Given the description of an element on the screen output the (x, y) to click on. 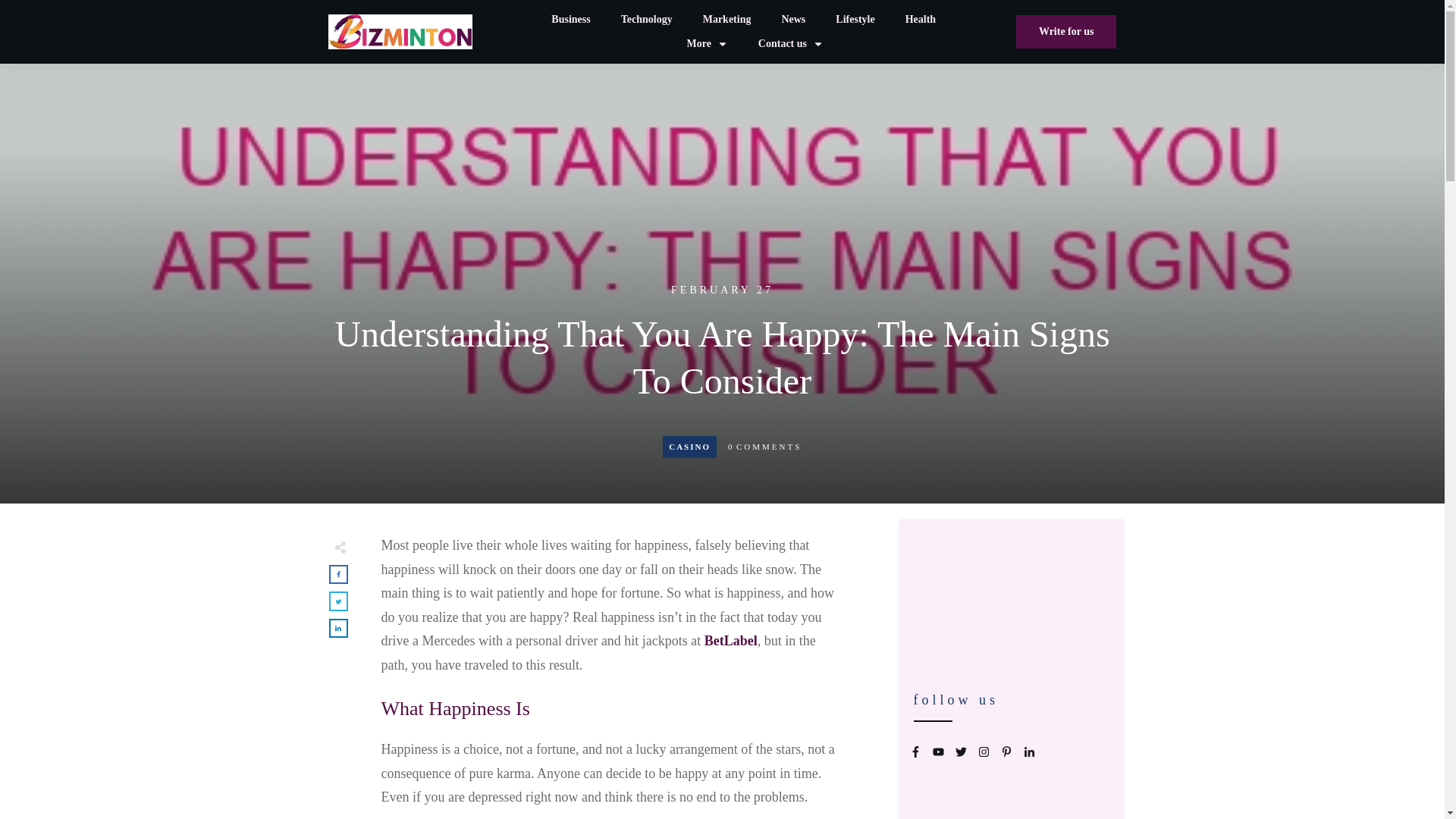
Technology (646, 19)
BetLabel (730, 640)
Casino (689, 446)
Business (570, 19)
News (792, 19)
Lifestyle (855, 19)
Contact us (791, 43)
More (705, 43)
Marketing (727, 19)
Health (920, 19)
CASINO (689, 446)
Write for us (1066, 32)
